Given the description of an element on the screen output the (x, y) to click on. 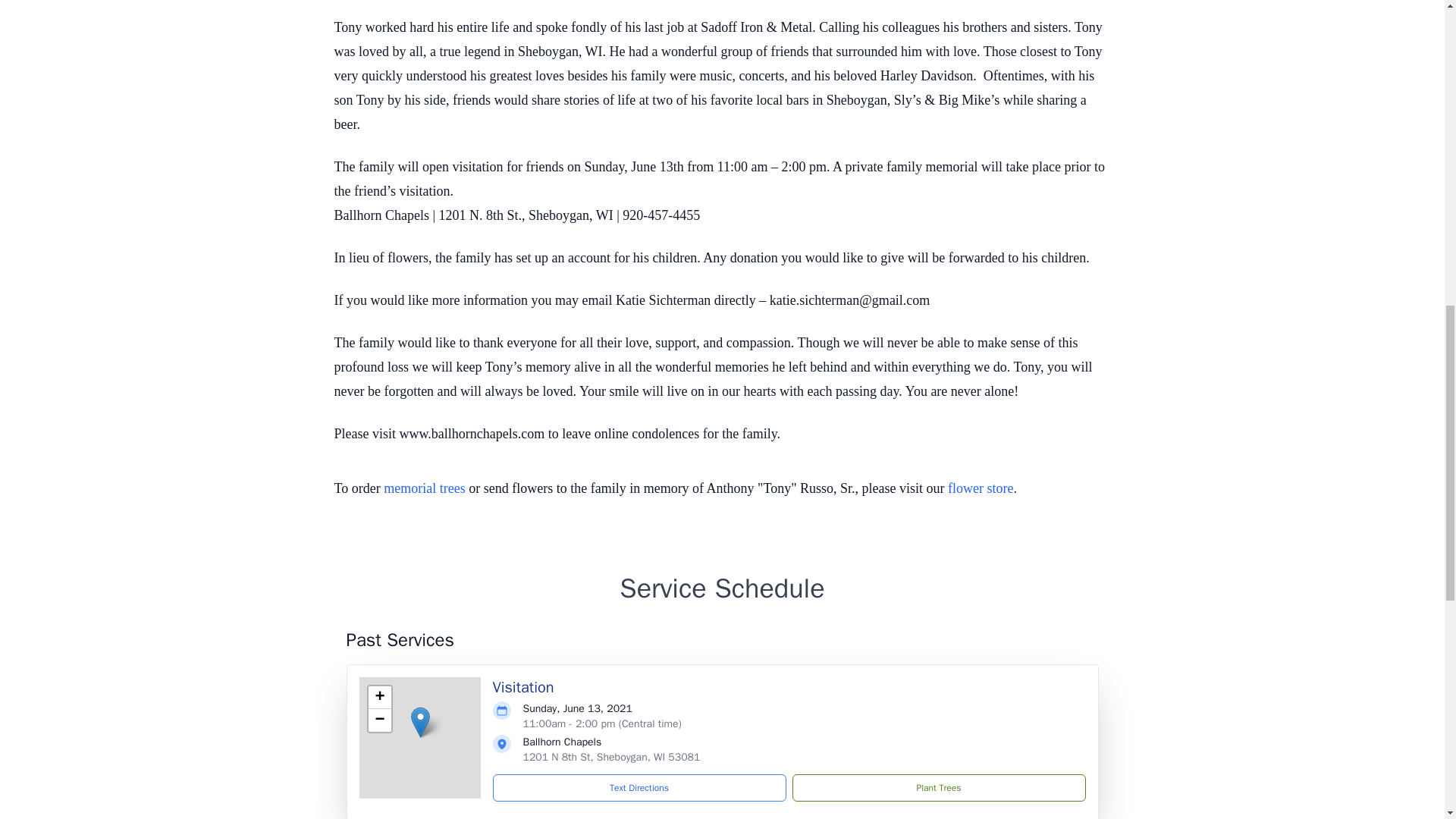
Zoom out (379, 720)
flower store (980, 488)
Plant Trees (938, 787)
1201 N 8th St, Sheboygan, WI 53081 (611, 757)
Text Directions (639, 787)
memorial trees (424, 488)
Zoom in (379, 697)
